Given the description of an element on the screen output the (x, y) to click on. 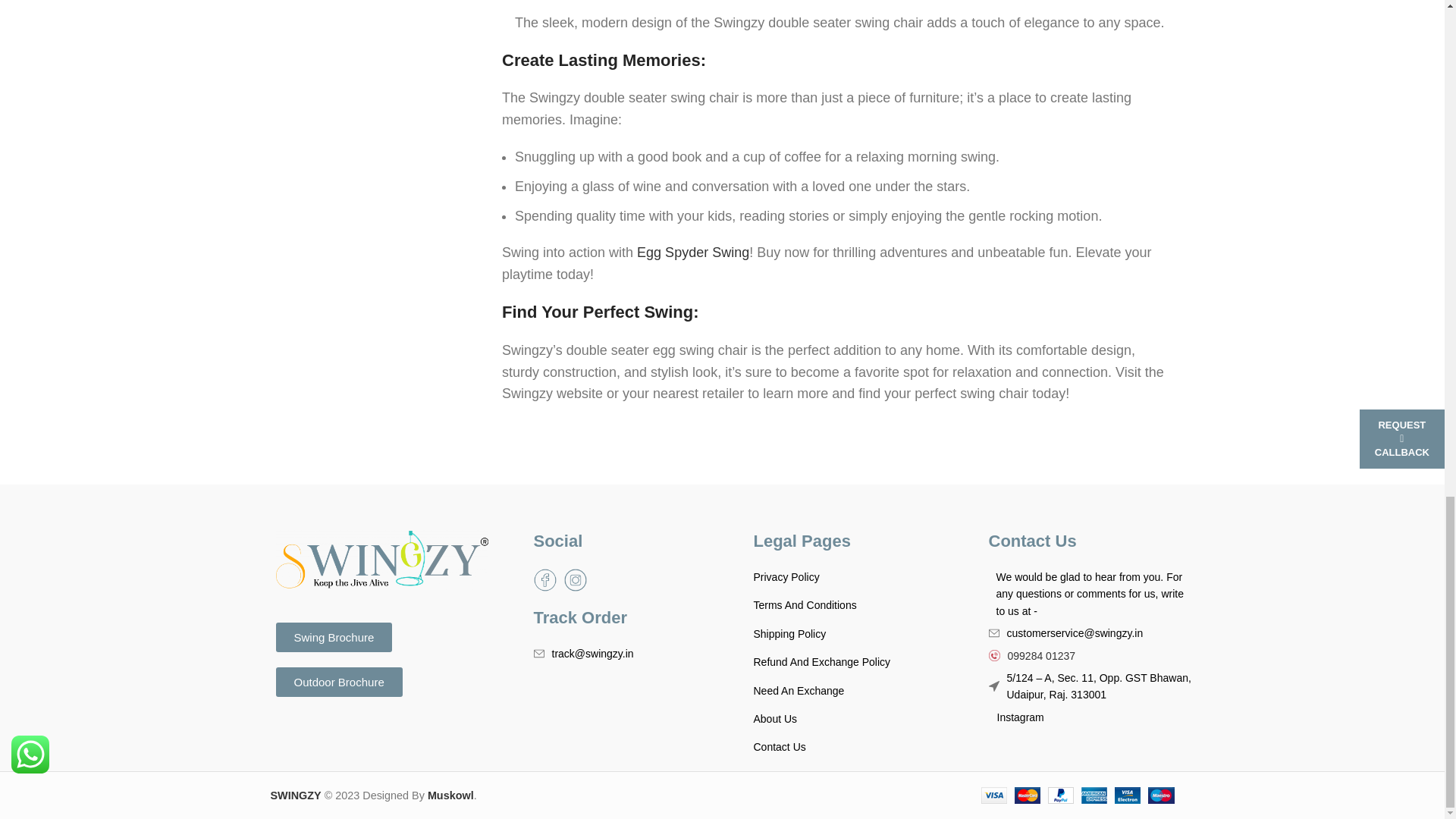
wd-envelope-dark (539, 653)
icons-phone-round-1831923 (994, 655)
wd-envelope-dark (993, 633)
wd-cursor-dark (993, 685)
Swingzy India Logo (381, 560)
